Given the description of an element on the screen output the (x, y) to click on. 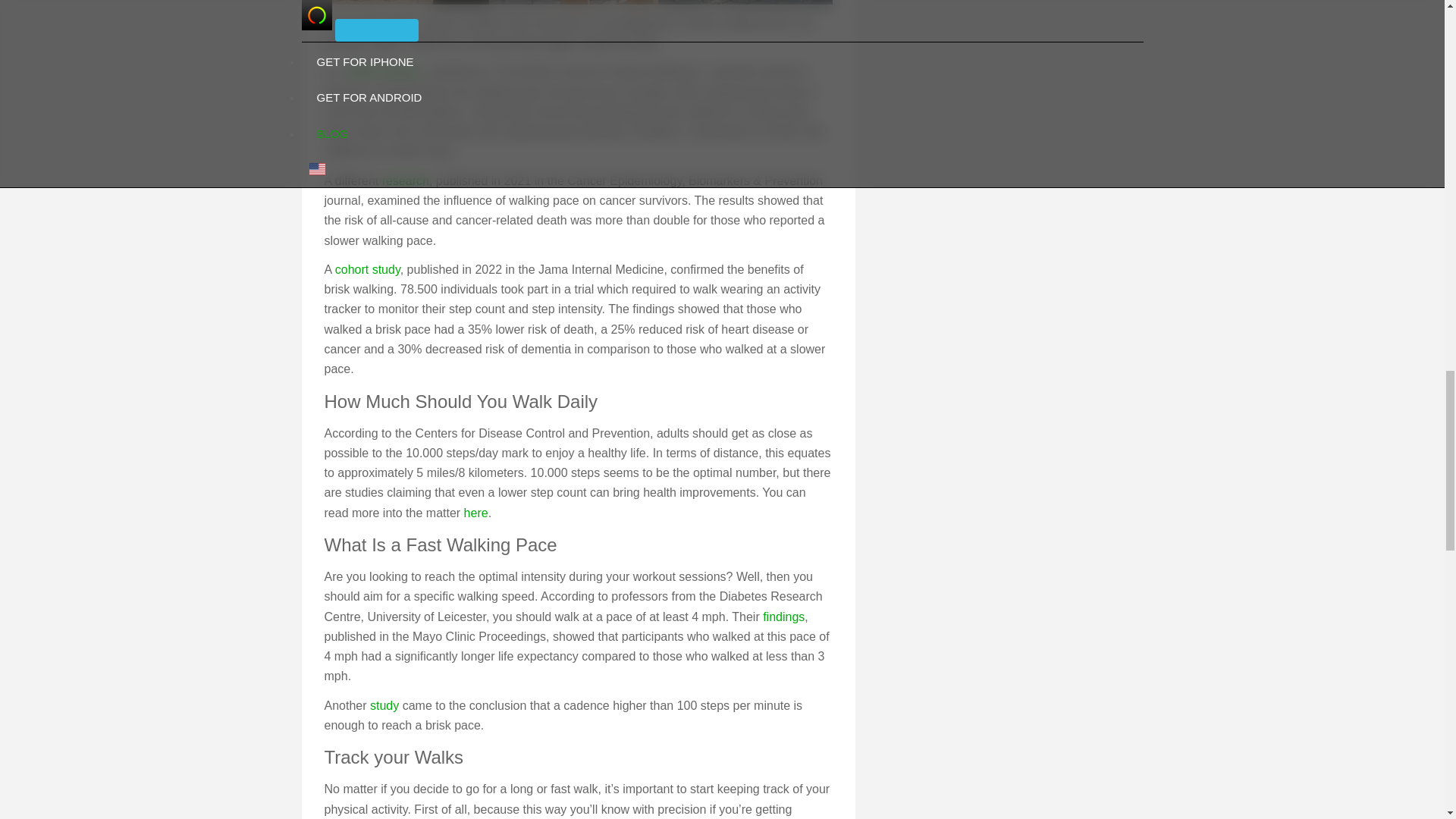
study (383, 705)
findings (783, 616)
research (405, 180)
here (475, 512)
2006 analysis (384, 71)
cohort study (367, 269)
